Given the description of an element on the screen output the (x, y) to click on. 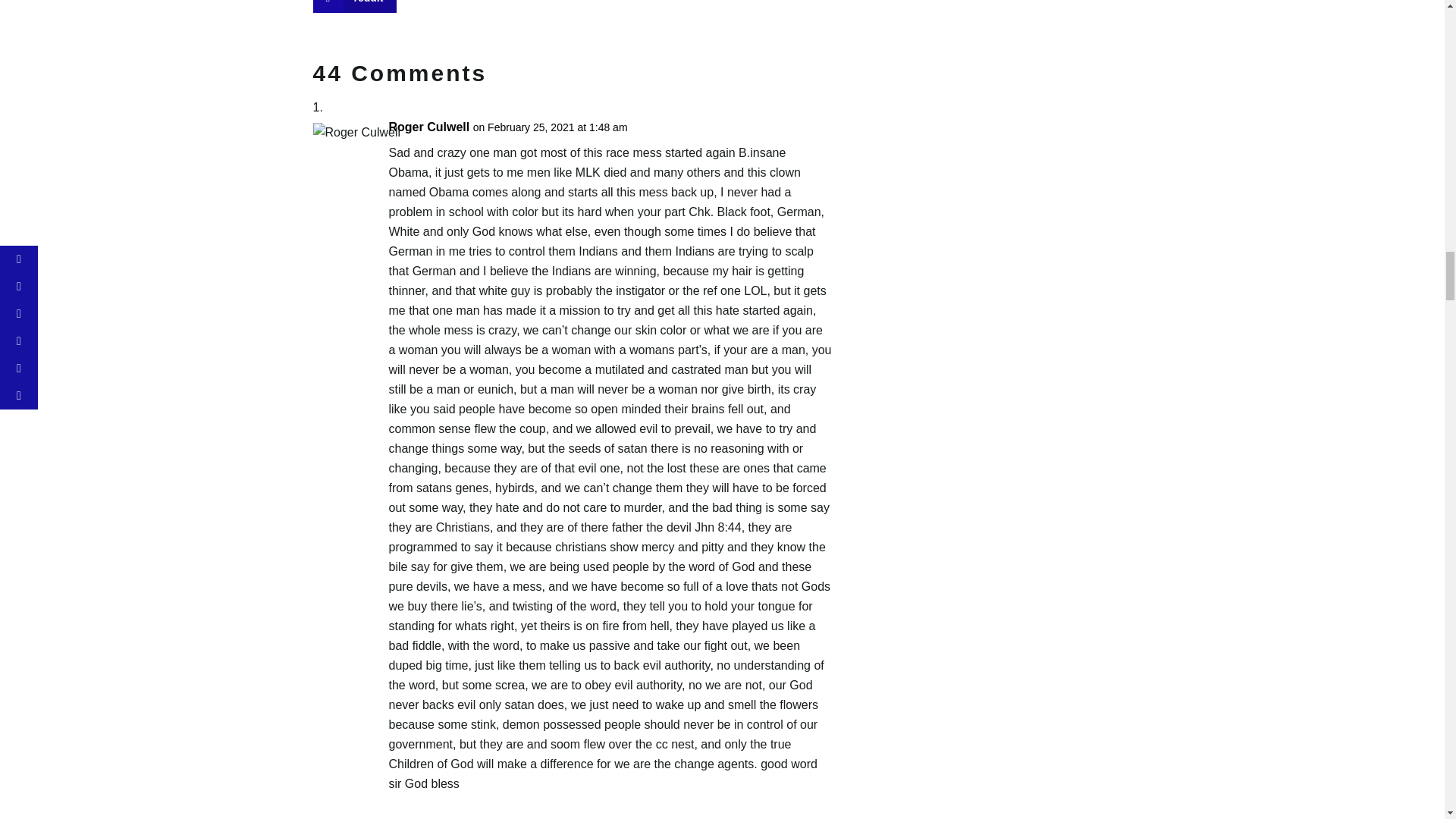
Roger Culwell (428, 127)
reddit (354, 6)
